Given the description of an element on the screen output the (x, y) to click on. 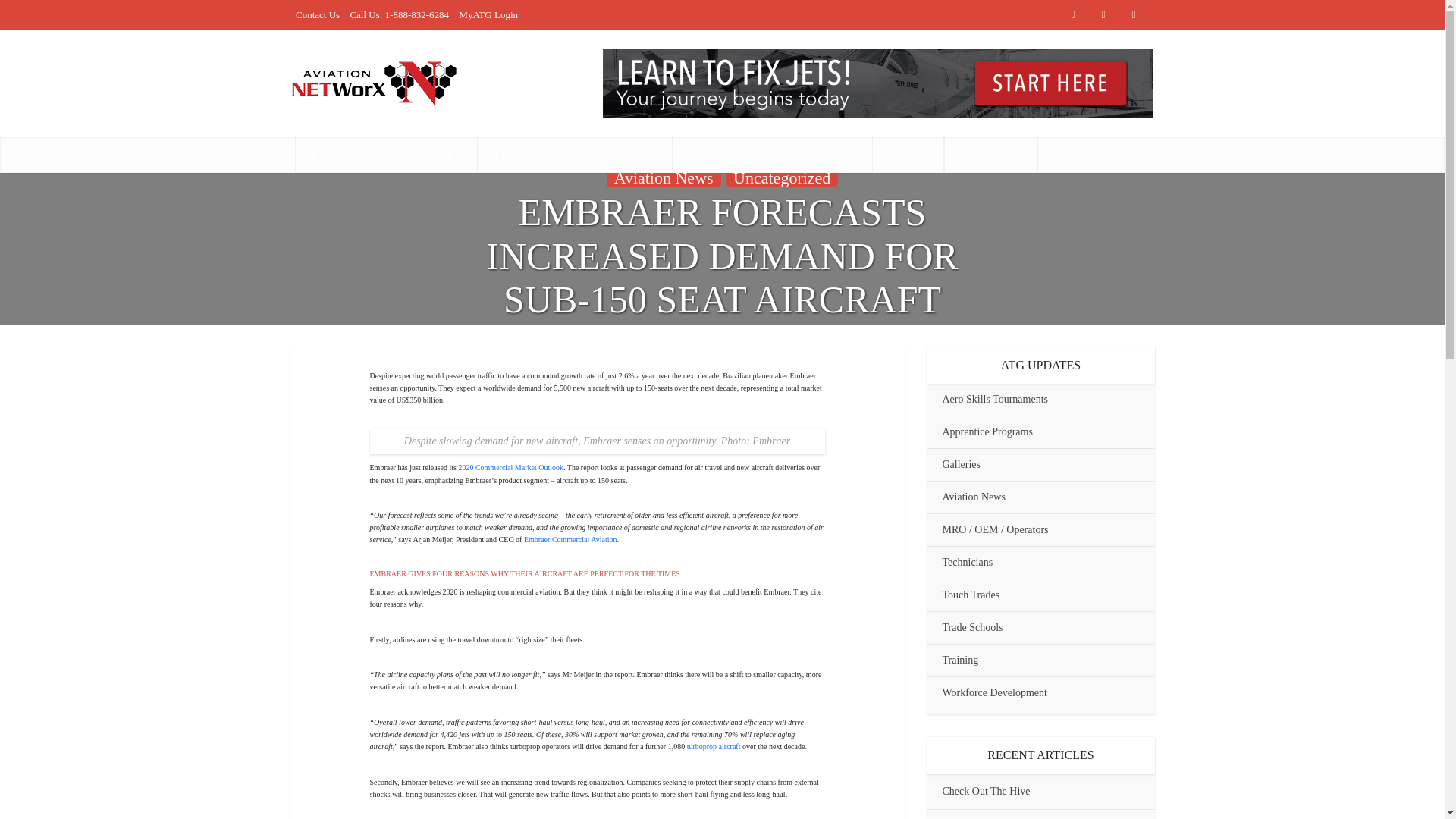
Contact Us (317, 14)
EMPLOYERS (624, 154)
HOME (322, 154)
ABOUT ATG (827, 154)
MyATG Login (488, 14)
TECHNICIANS (527, 154)
CONTACT (907, 154)
TOURNAMENTS (727, 154)
Call Us: 1-888-832-6284 (398, 14)
DISCOVER AVIATION (413, 154)
